Given the description of an element on the screen output the (x, y) to click on. 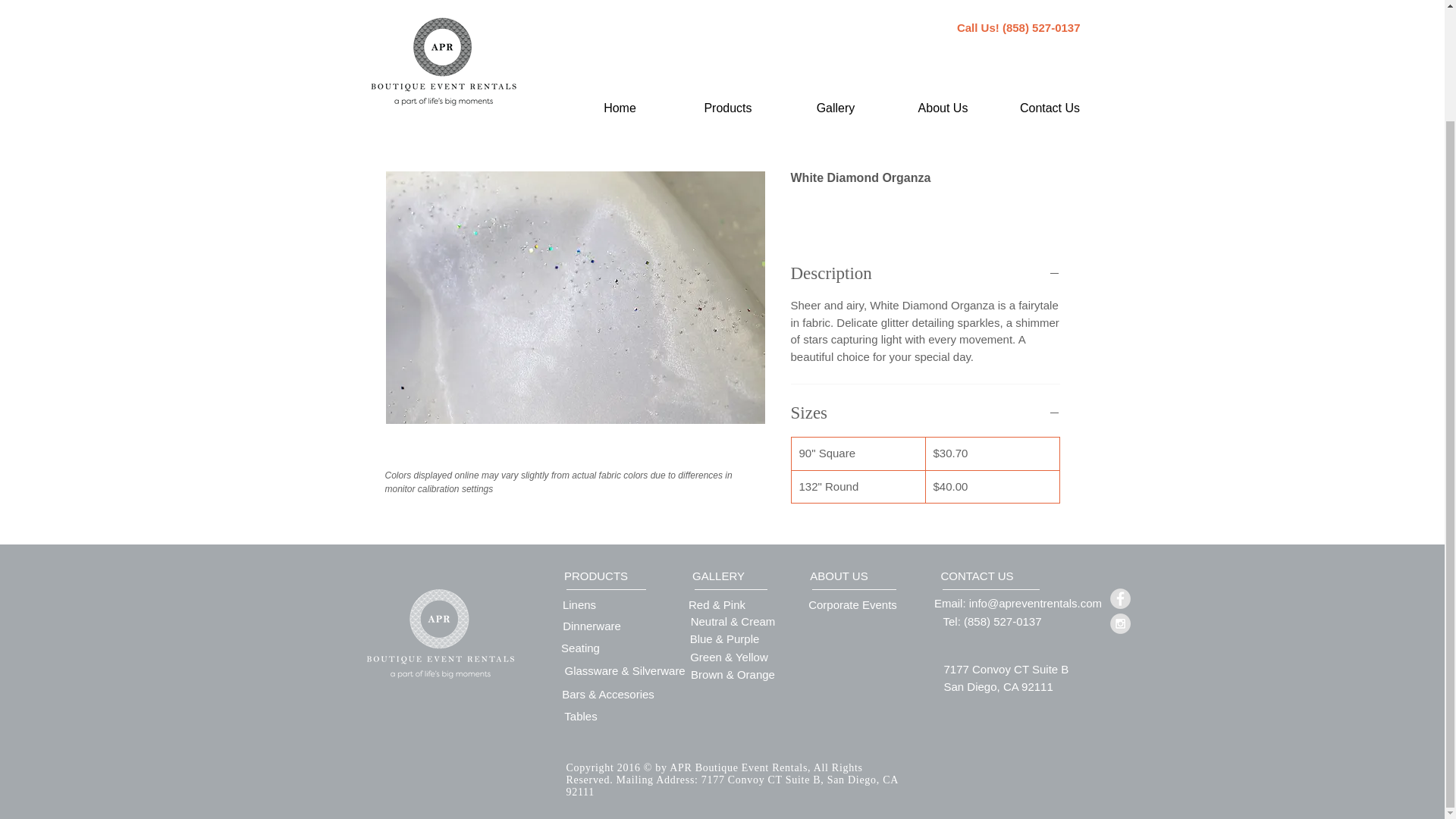
Description (924, 273)
Tables (831, 48)
Linens (579, 603)
PRODUCTS (595, 575)
Linens (481, 48)
Seating (911, 48)
GALLERY (717, 575)
Seating (580, 647)
Sizes (924, 413)
Dinnerware (574, 48)
